Given the description of an element on the screen output the (x, y) to click on. 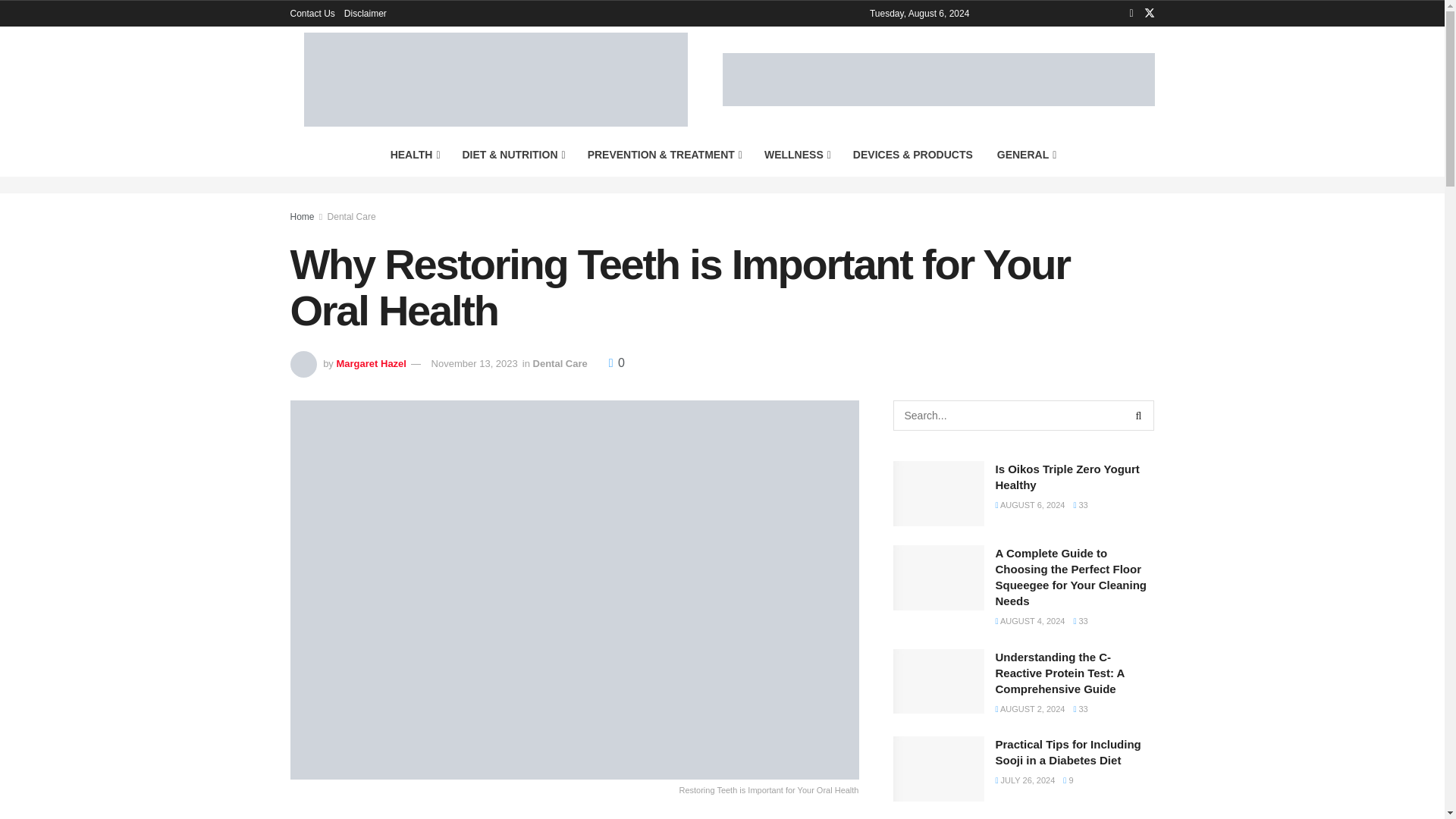
HEALTH (413, 154)
GENERAL (1026, 154)
WELLNESS (796, 154)
Disclaimer (365, 13)
Contact Us (311, 13)
